Given the description of an element on the screen output the (x, y) to click on. 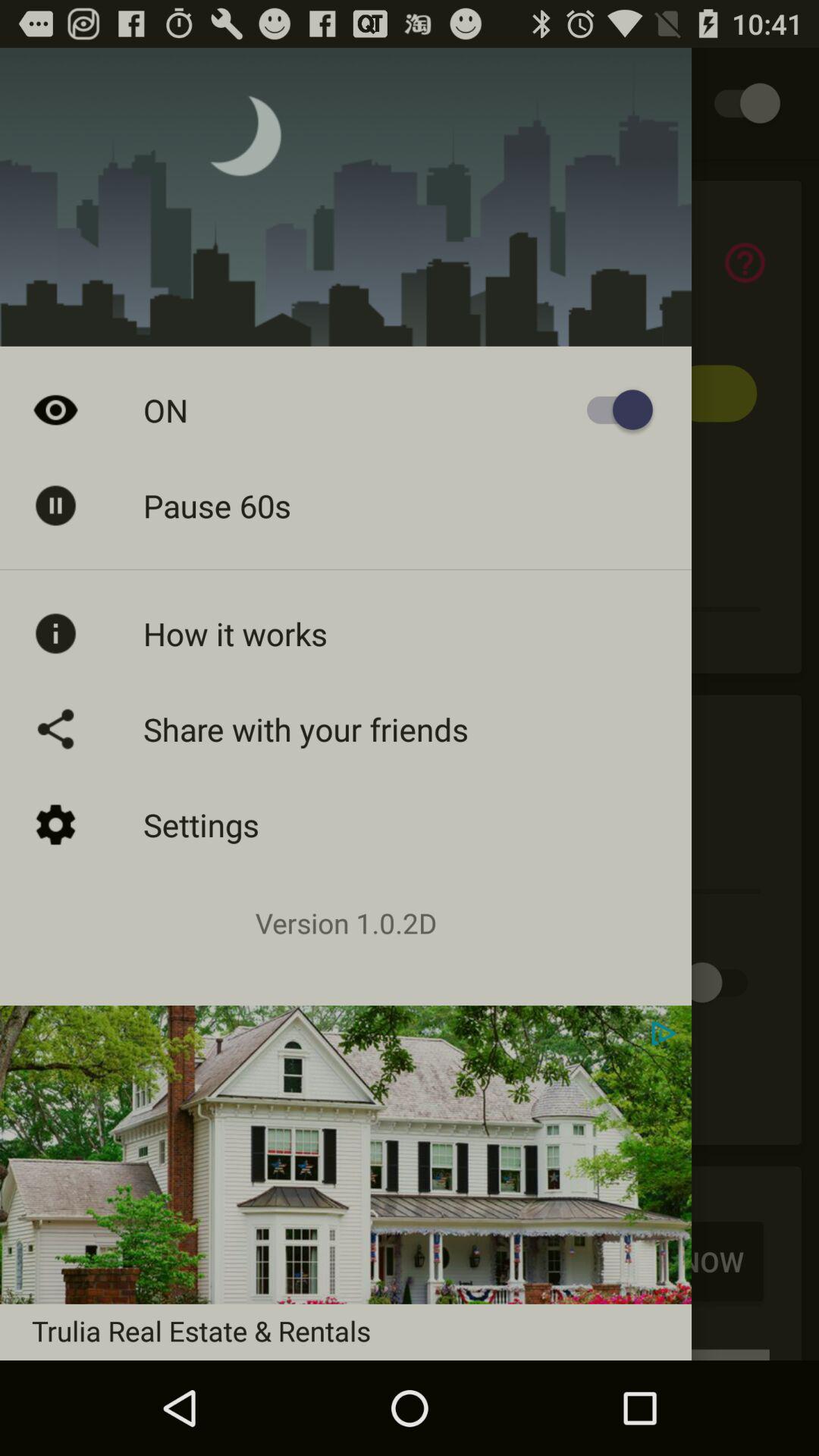
click on trulia real estate and rentals option (409, 1256)
